Given the description of an element on the screen output the (x, y) to click on. 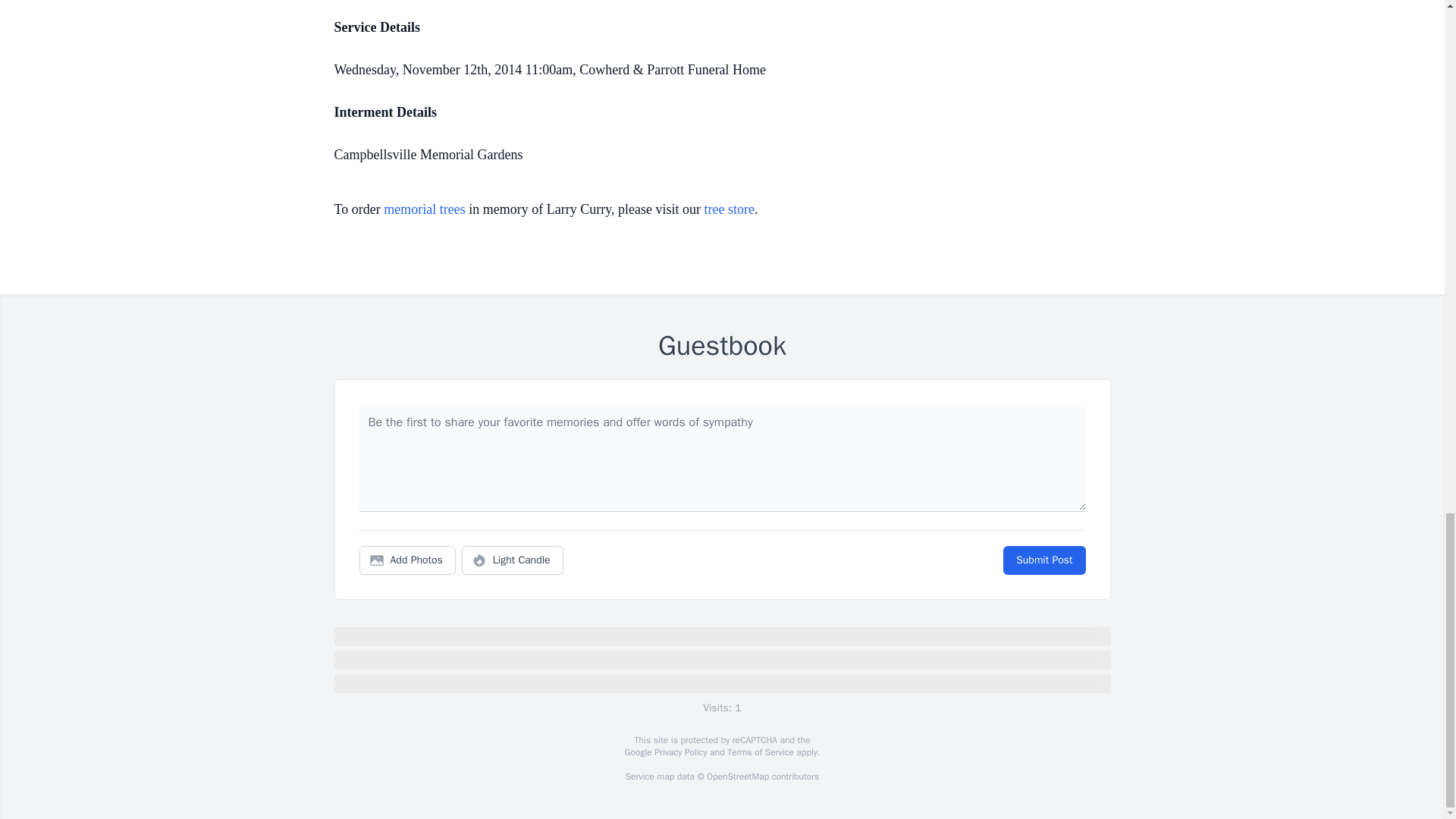
Privacy Policy (679, 752)
Submit Post (1043, 560)
OpenStreetMap (737, 776)
Add Photos (407, 560)
tree store (728, 209)
Light Candle (512, 560)
memorial trees (424, 209)
Terms of Service (759, 752)
